Given the description of an element on the screen output the (x, y) to click on. 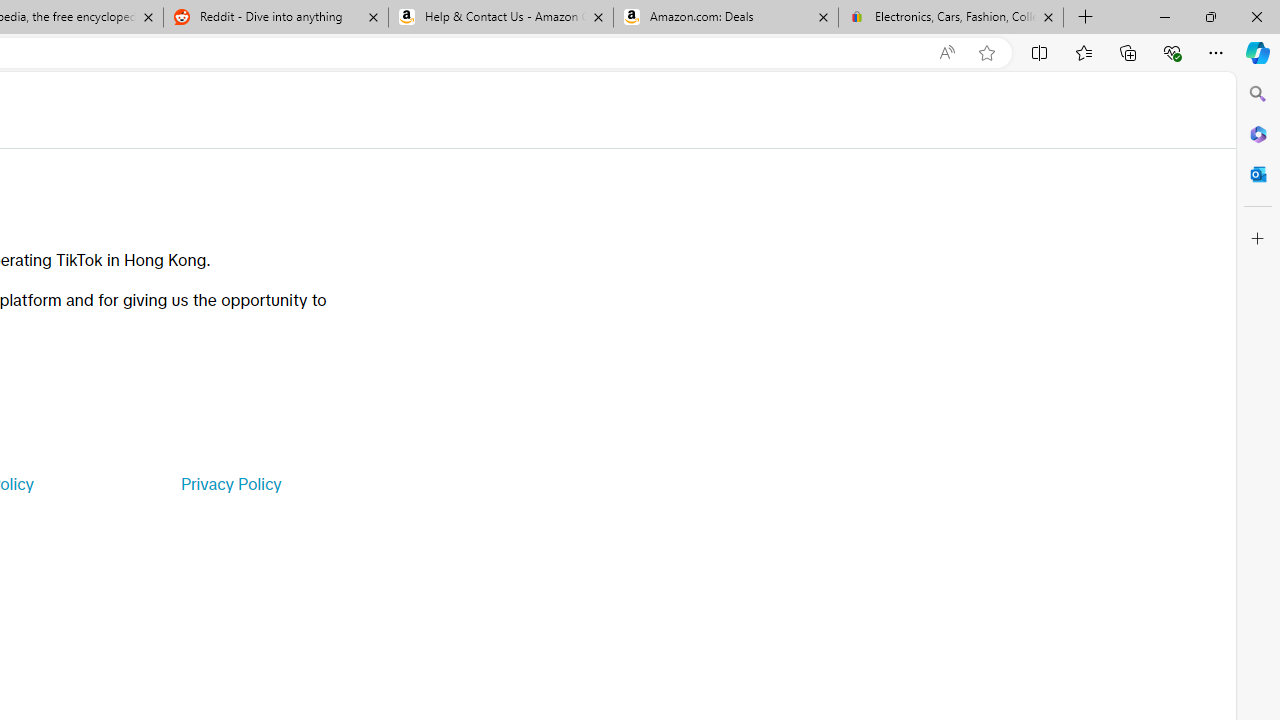
Split screen (1039, 52)
Minimize (1164, 16)
Settings and more (Alt+F) (1215, 52)
Help & Contact Us - Amazon Customer Service (501, 17)
Privacy Policy (230, 484)
Customize (1258, 239)
Add this page to favorites (Ctrl+D) (986, 53)
